Given the description of an element on the screen output the (x, y) to click on. 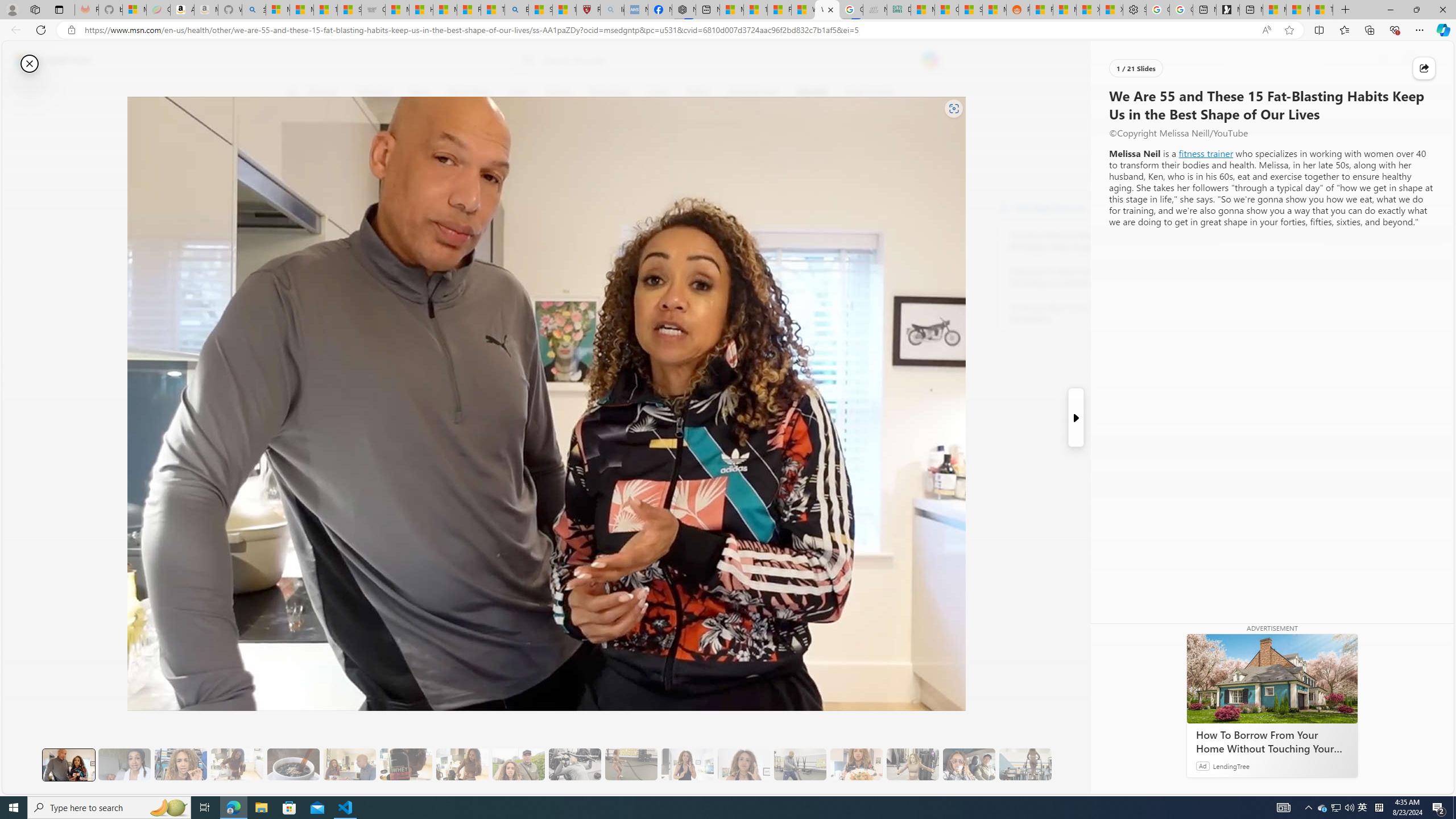
World News (468, 92)
Local (517, 92)
Follow (518, 146)
6 Since Eating More Protein Her Training Has Improved (406, 764)
14 They Have Salmon and Veggies for Dinner (855, 764)
Crime (657, 92)
16 The Couple's Program Helps with Accountability (968, 764)
Body Network (449, 147)
15 They Also Indulge in a Low-Calorie Sweet Treat (912, 764)
